Given the description of an element on the screen output the (x, y) to click on. 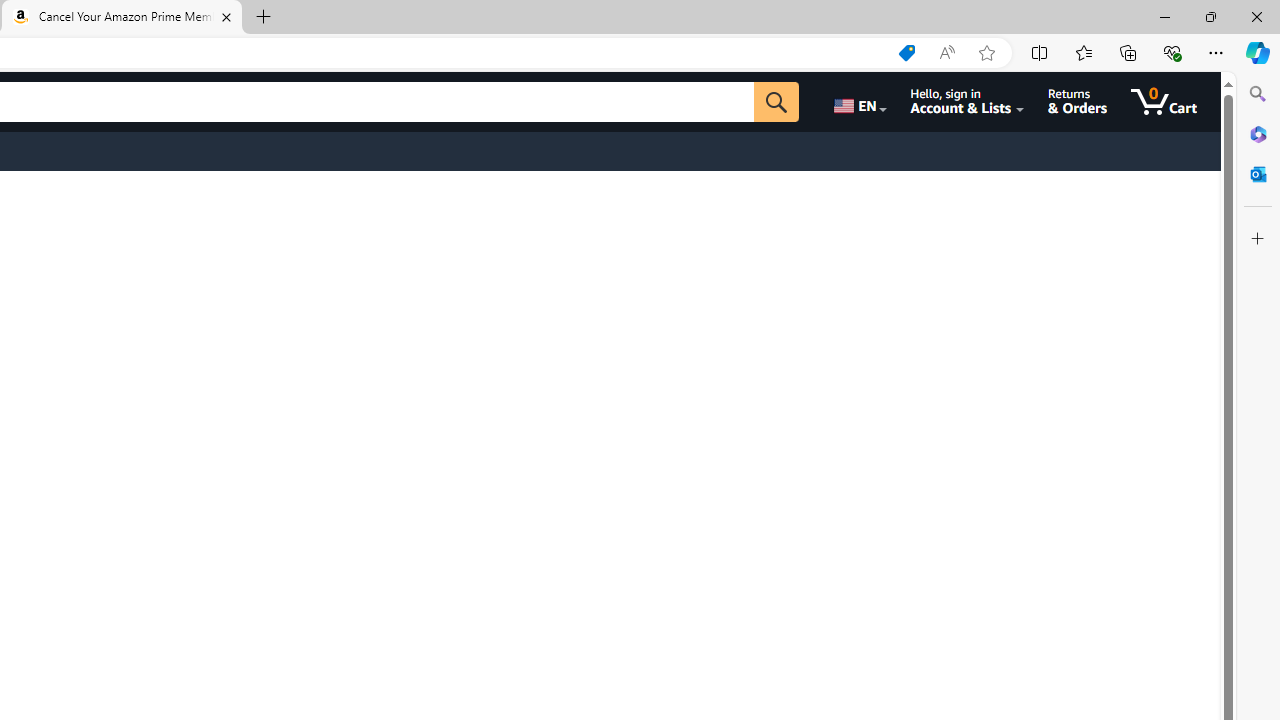
Choose a language for shopping. (858, 101)
0 items in cart (1163, 101)
Returns & Orders (1077, 101)
Go (776, 101)
